Given the description of an element on the screen output the (x, y) to click on. 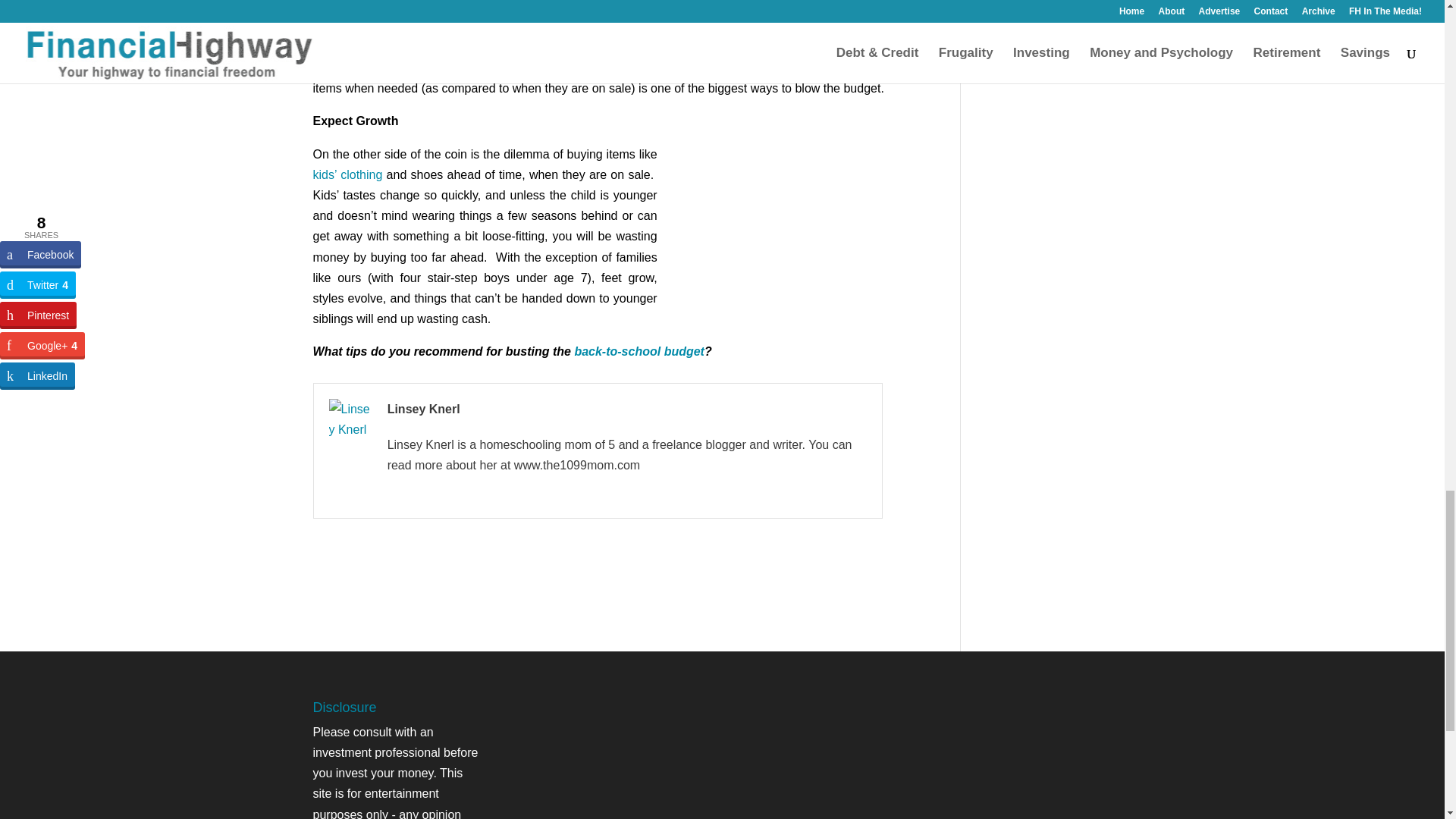
back-to-school budget (638, 350)
